Given the description of an element on the screen output the (x, y) to click on. 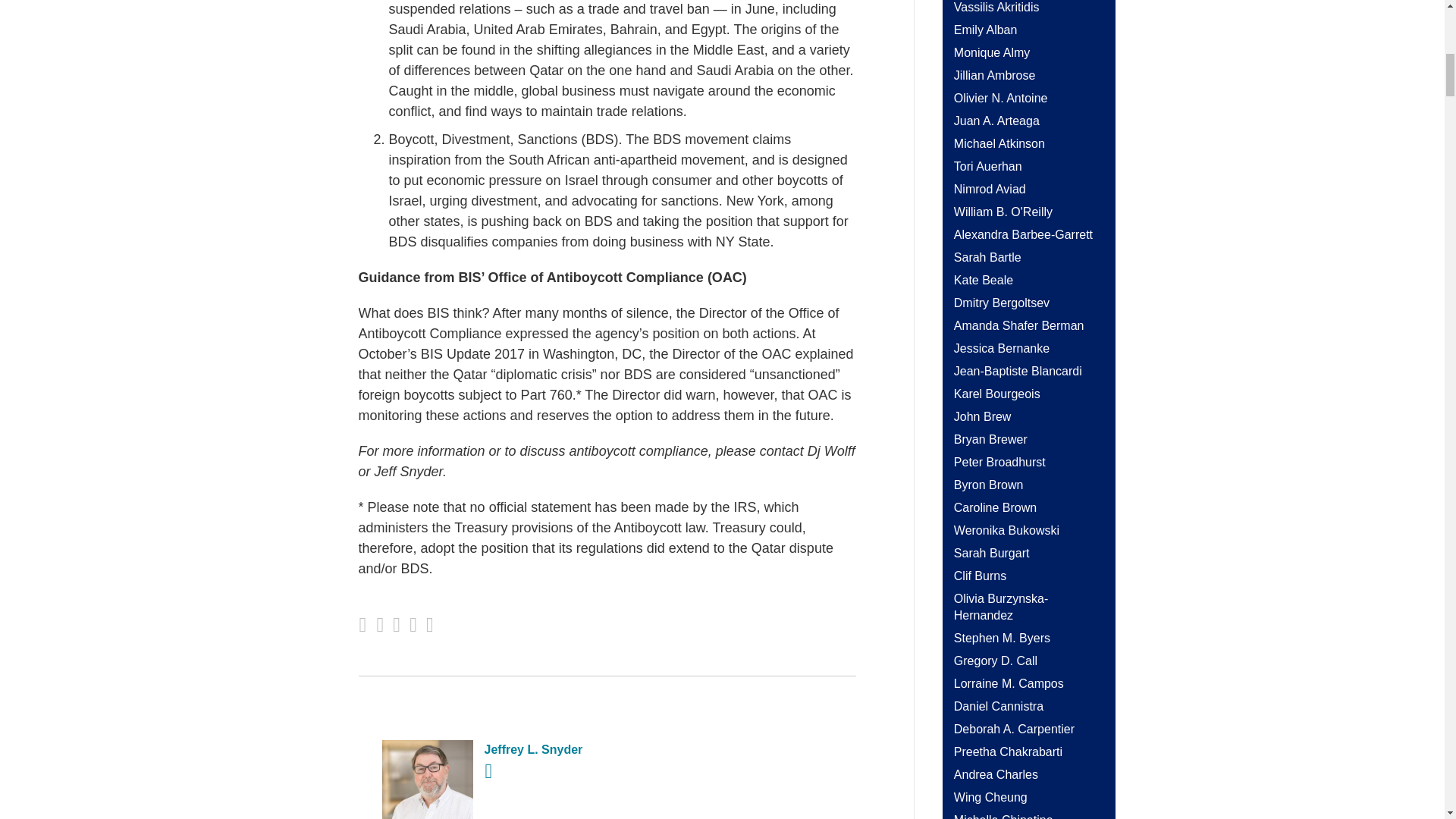
Jillian Ambrose (994, 74)
Vassilis Akritidis (996, 6)
Monique Almy (991, 51)
Jeffrey L. Snyder (606, 750)
Emily Alban (985, 29)
